Given the description of an element on the screen output the (x, y) to click on. 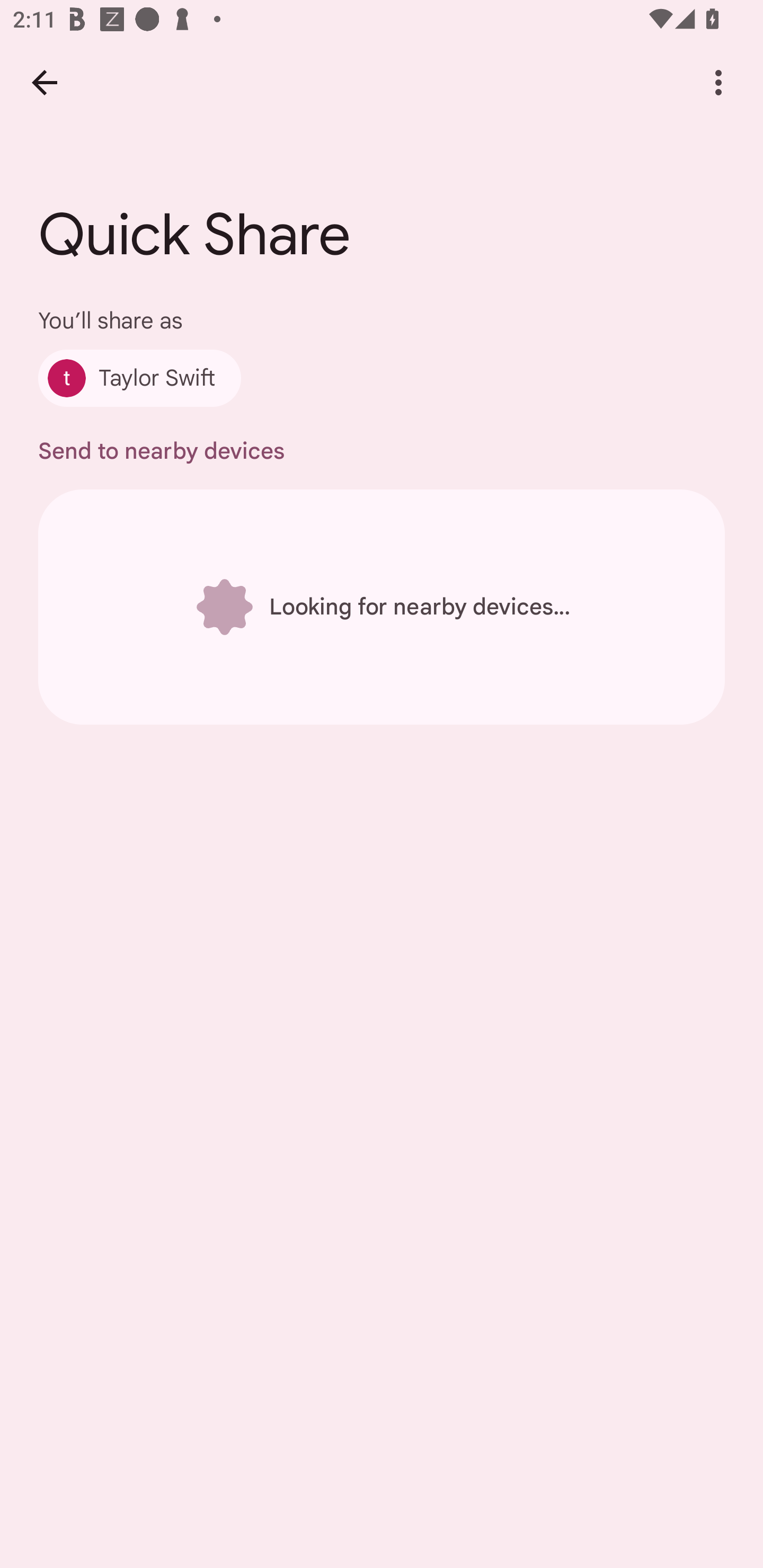
Back (44, 81)
More (718, 81)
Taylor Swift (139, 378)
